Given the description of an element on the screen output the (x, y) to click on. 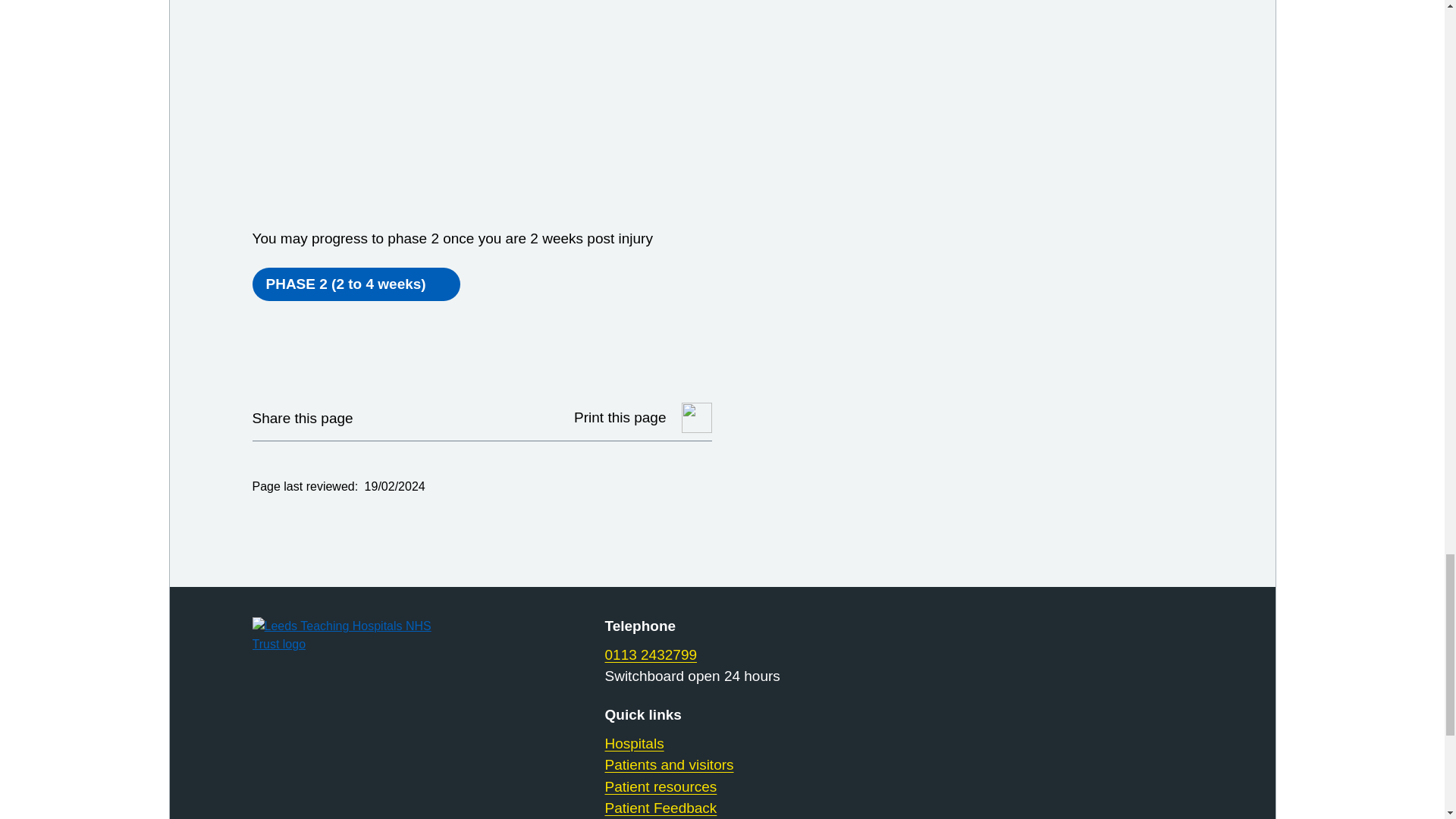
Leeds Teaching Hospitals NHS Trust Homepage (359, 635)
Share via Email (460, 417)
Share on Facebook (422, 417)
